Given the description of an element on the screen output the (x, y) to click on. 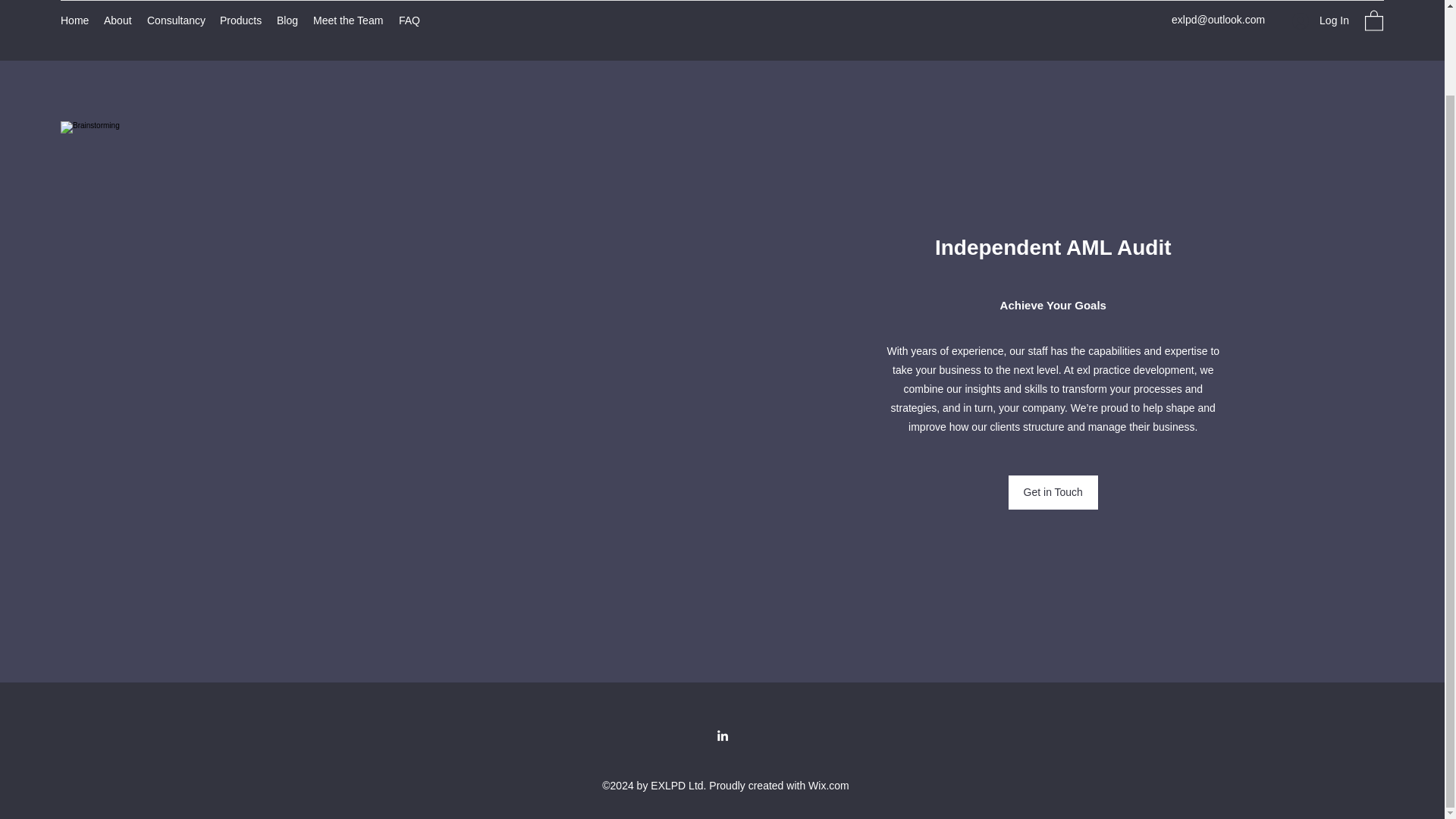
Blog (287, 20)
FAQ (409, 20)
About (117, 20)
Meet the Team (348, 20)
Consultancy (175, 20)
Home (74, 20)
Get in Touch (1053, 492)
Log In (1320, 20)
Products (240, 20)
